Given the description of an element on the screen output the (x, y) to click on. 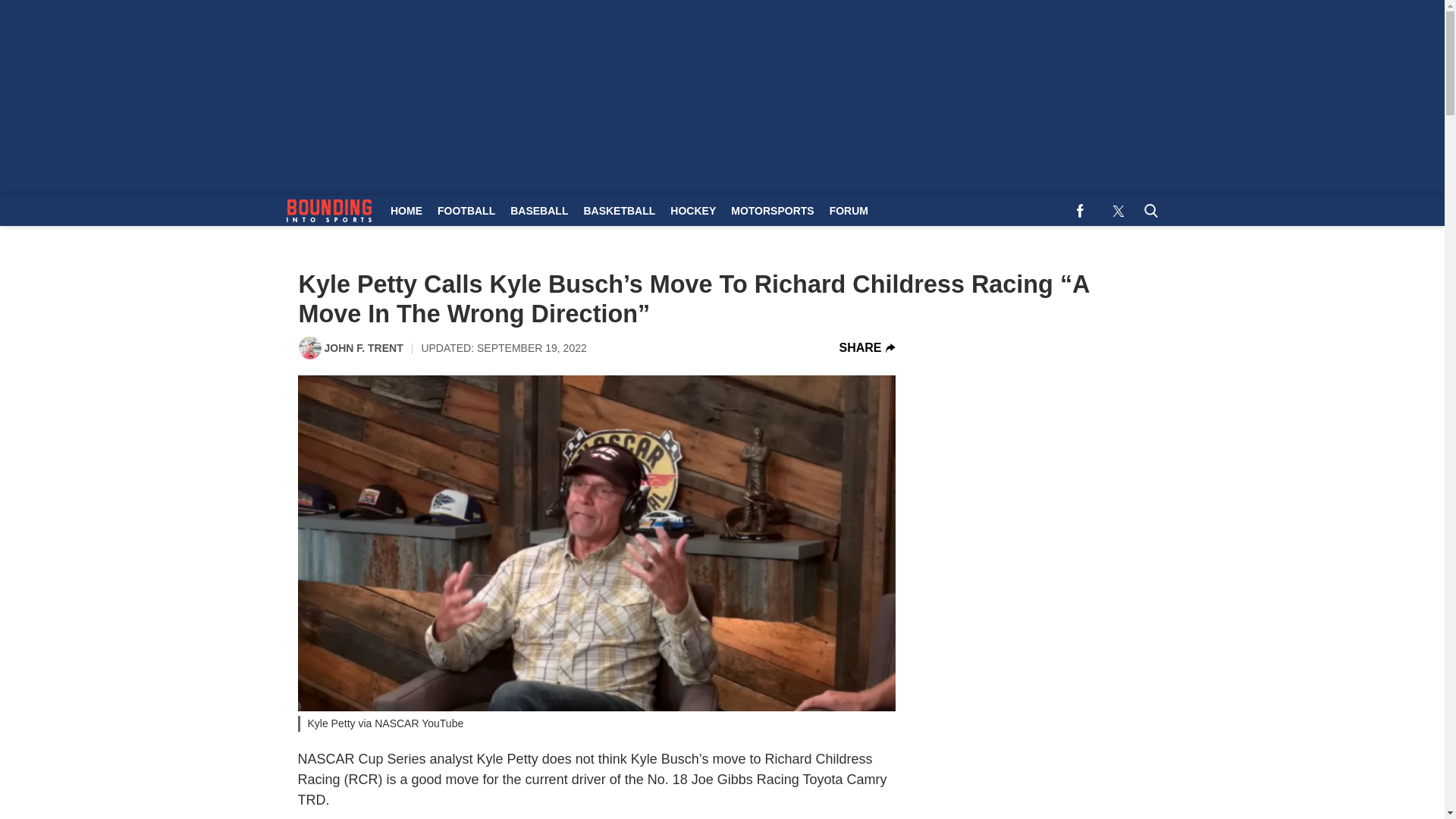
HOCKEY (692, 210)
JOHN F. TRENT (363, 347)
FOOTBALL (465, 210)
FORUM (849, 210)
Follow us on Facebook (1080, 210)
HOME (405, 210)
BASKETBALL (618, 210)
BASEBALL (538, 210)
Follow us on Twitter (1118, 210)
MOTORSPORTS (772, 210)
